Given the description of an element on the screen output the (x, y) to click on. 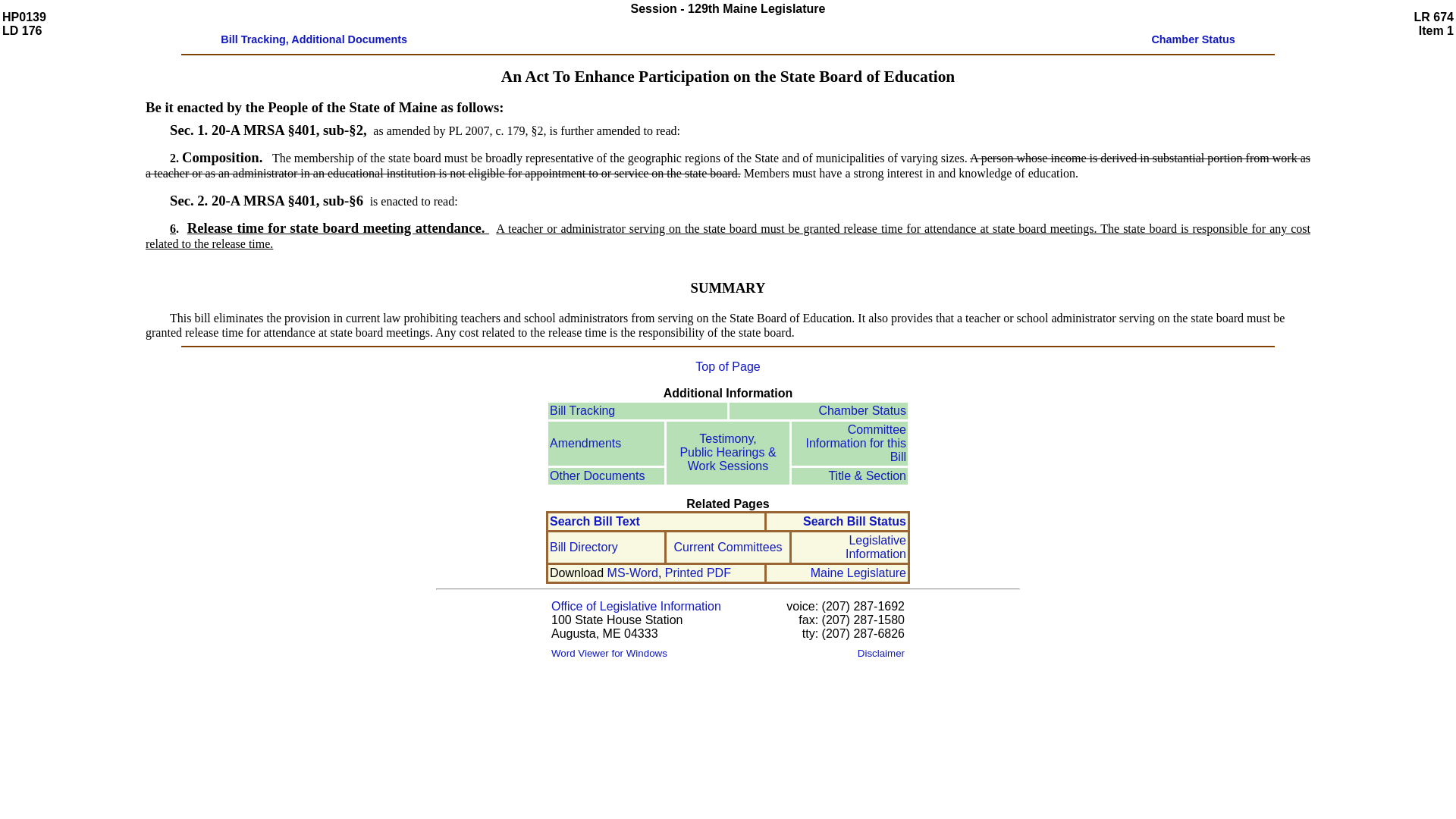
Top of Page (727, 366)
Bill Tracking, Additional Documents (314, 38)
Maine Legislature (857, 572)
Amendments (585, 442)
Other Documents (597, 475)
Word Viewer for Windows (608, 652)
MS-Word (632, 572)
Bill Tracking (582, 410)
Chamber Status (1192, 38)
Current Committees (726, 546)
